Given the description of an element on the screen output the (x, y) to click on. 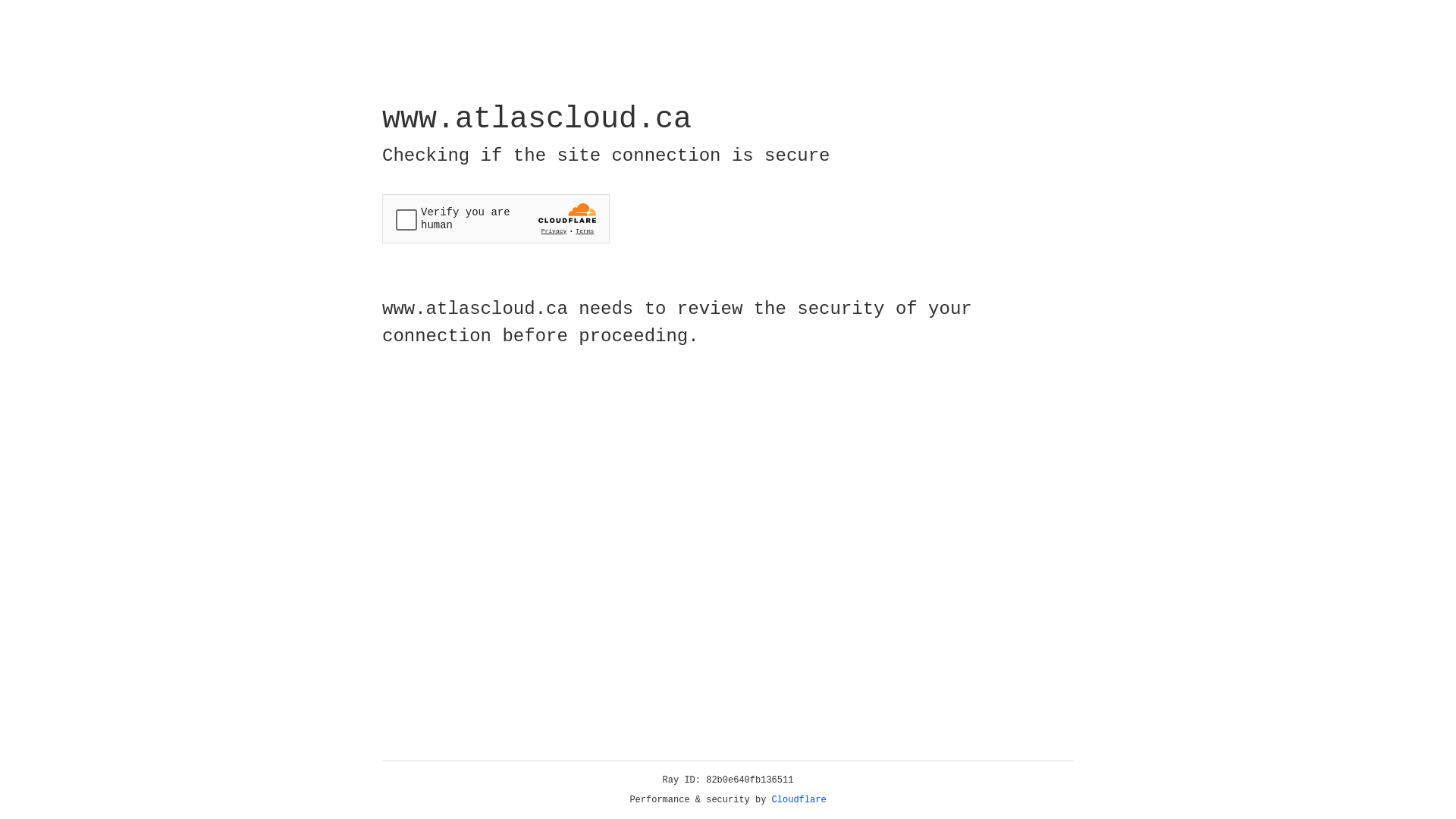
Cloudflare Element type: text (798, 799)
Widget containing a Cloudflare security challenge Element type: hover (495, 218)
